Given the description of an element on the screen output the (x, y) to click on. 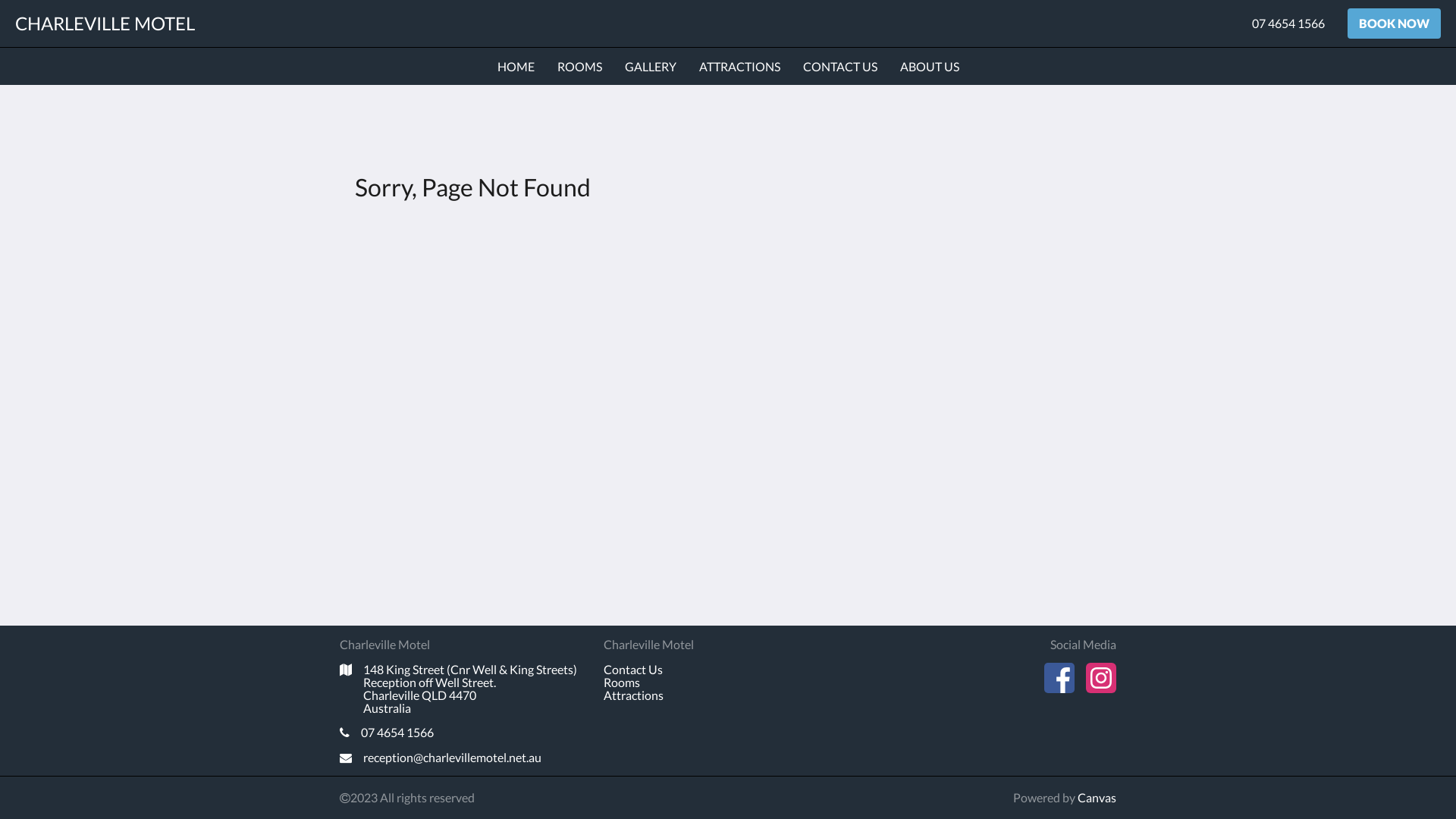
Canvas Element type: text (1096, 797)
Contact Us Element type: text (632, 669)
07 4654 1566 Element type: text (463, 732)
ATTRACTIONS Element type: text (739, 66)
CONTACT US Element type: text (839, 66)
HOME Element type: text (515, 66)
Rooms Element type: text (621, 681)
BOOK NOW Element type: text (1393, 23)
ROOMS Element type: text (578, 66)
CHARLEVILLE MOTEL Element type: text (104, 22)
ABOUT US Element type: text (928, 66)
GALLERY Element type: text (650, 66)
Attractions Element type: text (633, 694)
reception@charlevillemotel.net.au Element type: text (463, 757)
07 4654 1566 Element type: text (1288, 23)
